Given the description of an element on the screen output the (x, y) to click on. 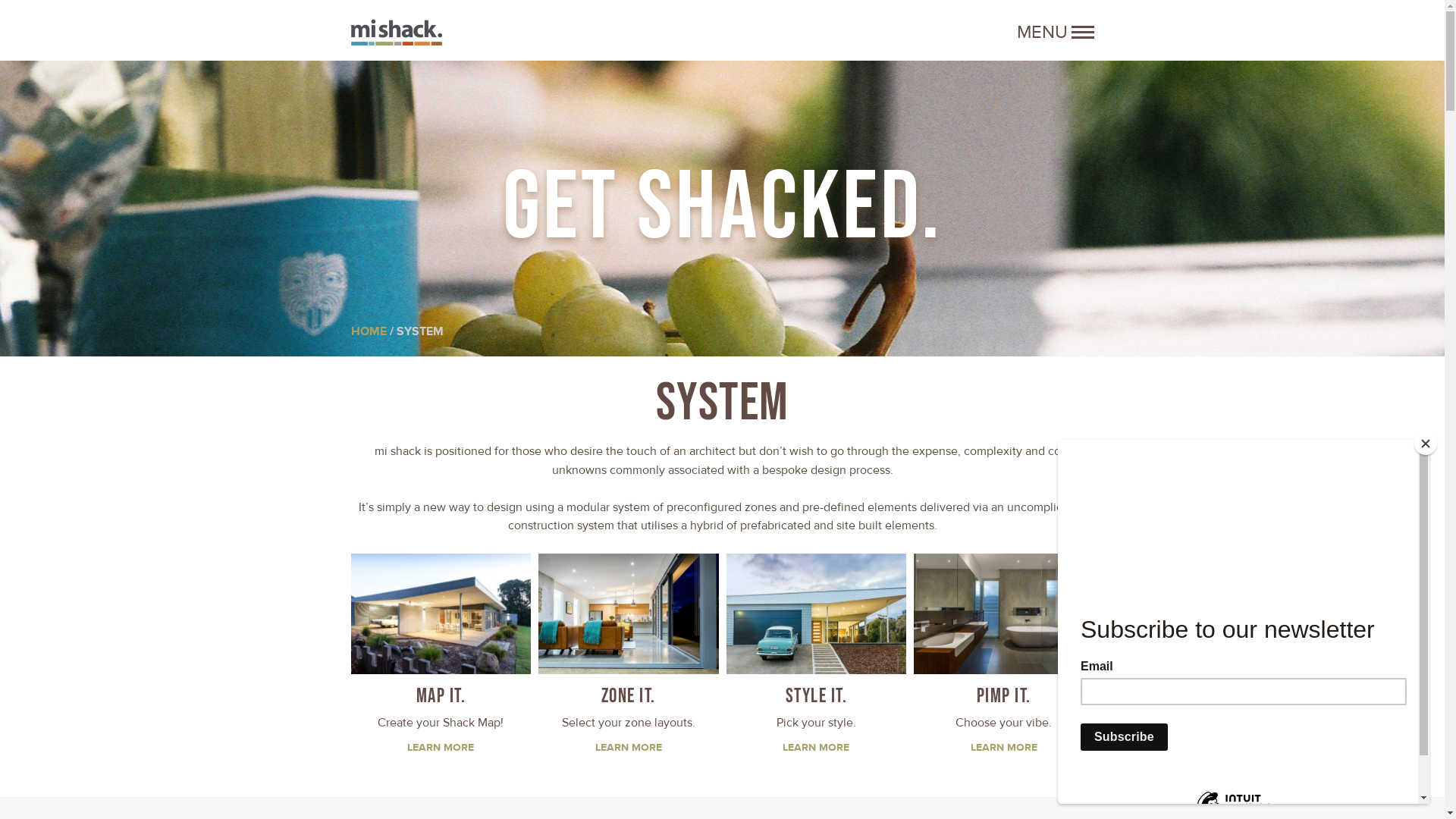
MENU Element type: text (1054, 31)
MAP IT.
Create your Shack Map!
LEARN MORE Element type: text (441, 658)
PIMP IT.
Choose your vibe.
LEARN MORE Element type: text (1004, 658)
STYLE IT.
Pick your style.
LEARN MORE Element type: text (815, 658)
HOME Element type: text (367, 330)
ZONE IT.
Select your zone layouts.
LEARN MORE Element type: text (628, 658)
